Given the description of an element on the screen output the (x, y) to click on. 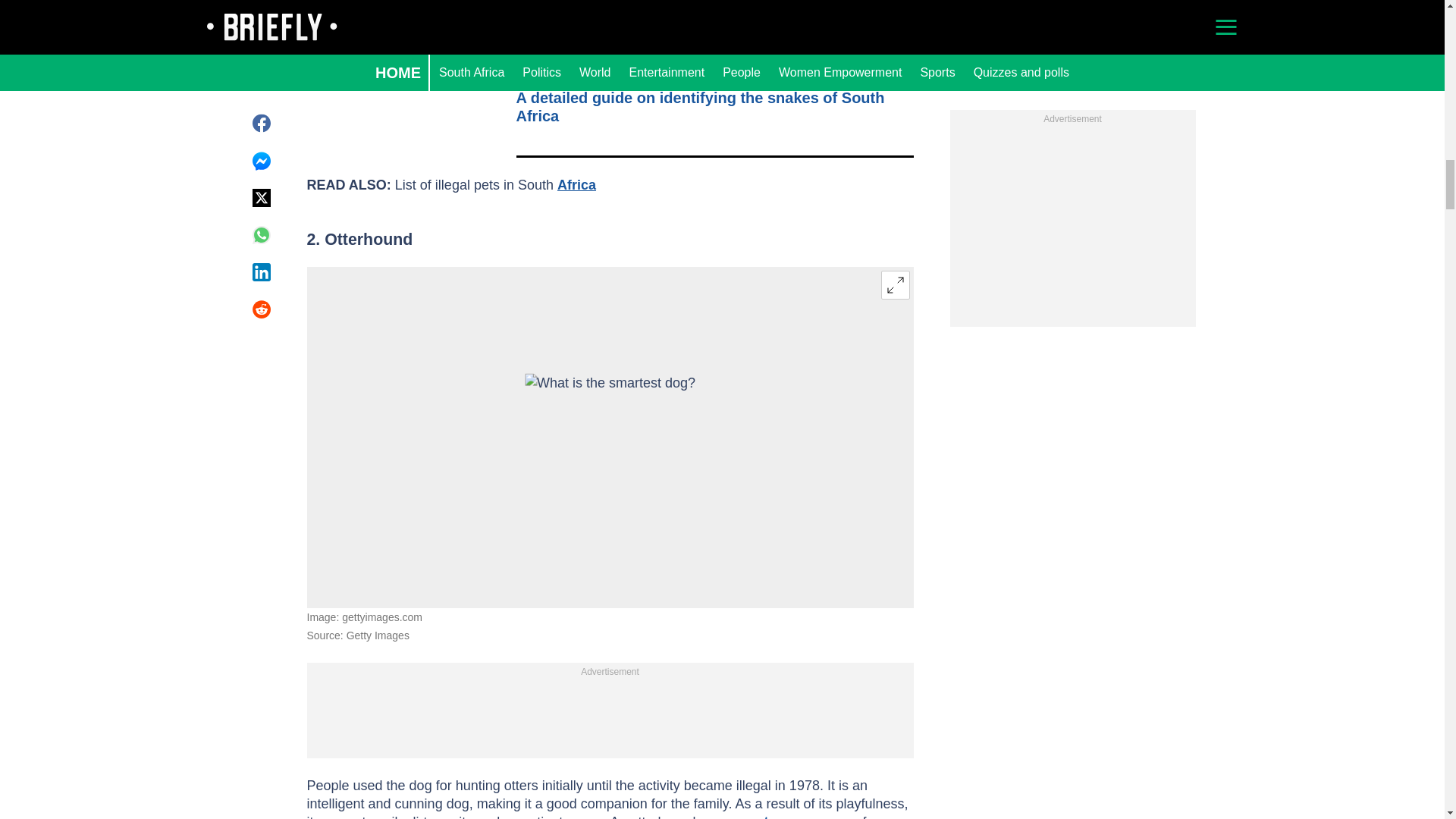
What is the smartest dog? (609, 437)
Expand image (895, 285)
